Given the description of an element on the screen output the (x, y) to click on. 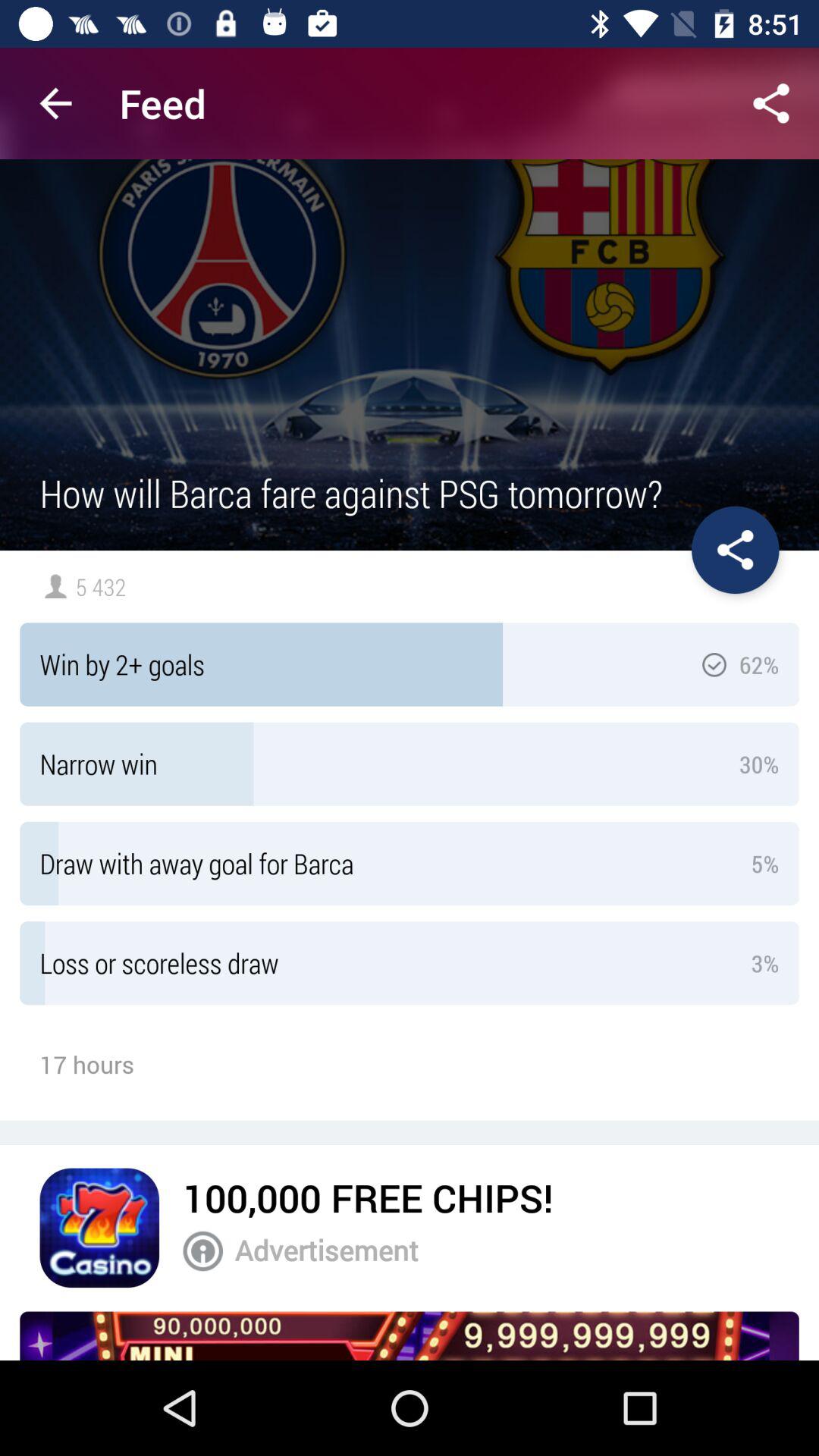
info about advertisement (202, 1251)
